Given the description of an element on the screen output the (x, y) to click on. 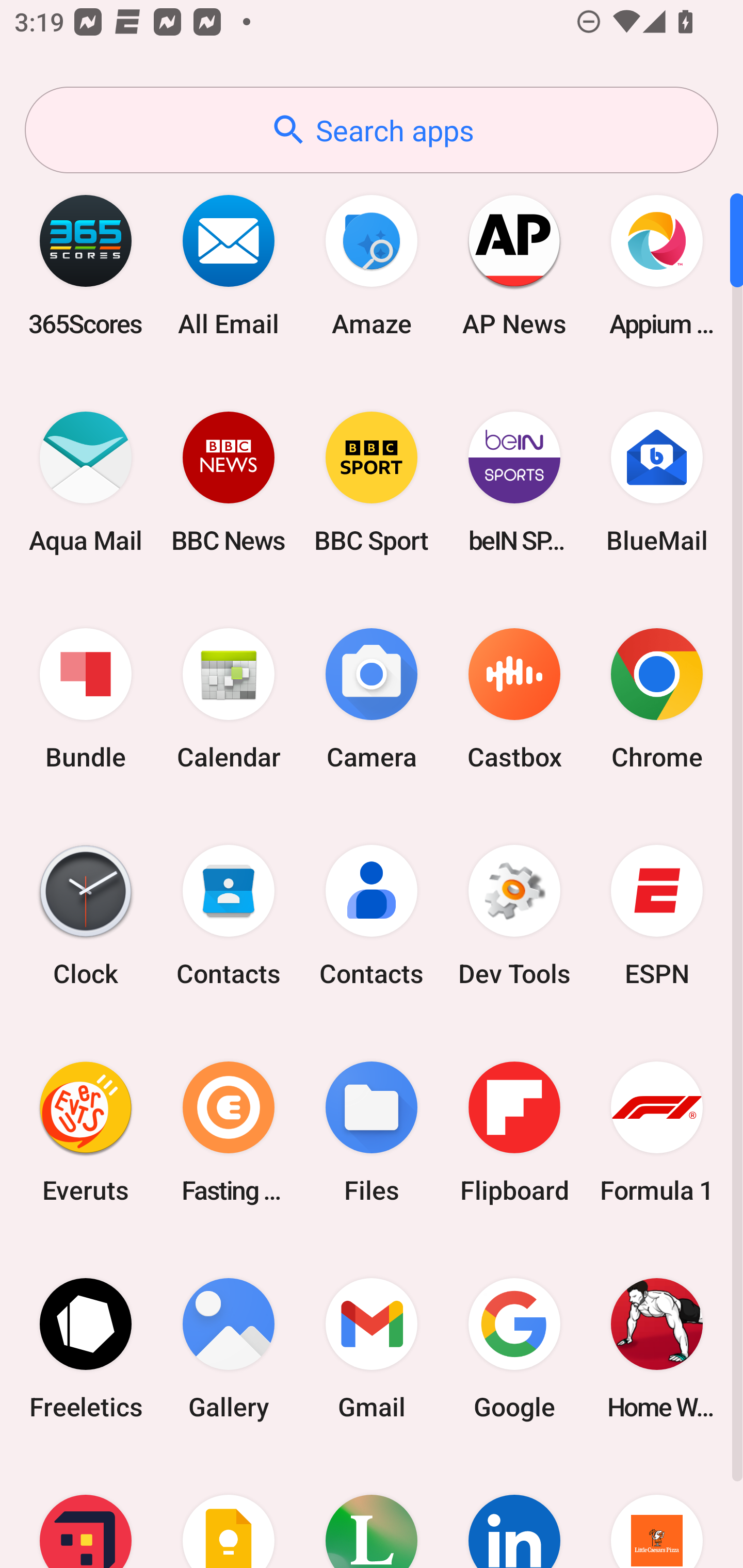
  Search apps (371, 130)
365Scores (85, 264)
All Email (228, 264)
Amaze (371, 264)
AP News (514, 264)
Appium Settings (656, 264)
Aqua Mail (85, 482)
BBC News (228, 482)
BBC Sport (371, 482)
beIN SPORTS (514, 482)
BlueMail (656, 482)
Bundle (85, 699)
Calendar (228, 699)
Camera (371, 699)
Castbox (514, 699)
Chrome (656, 699)
Clock (85, 915)
Contacts (228, 915)
Contacts (371, 915)
Dev Tools (514, 915)
ESPN (656, 915)
Everuts (85, 1131)
Fasting Coach (228, 1131)
Files (371, 1131)
Flipboard (514, 1131)
Formula 1 (656, 1131)
Freeletics (85, 1348)
Gallery (228, 1348)
Gmail (371, 1348)
Google (514, 1348)
Home Workout (656, 1348)
Hotels.com (85, 1512)
Keep Notes (228, 1512)
Lifesum (371, 1512)
LinkedIn (514, 1512)
Little Caesars Pizza (656, 1512)
